Given the description of an element on the screen output the (x, y) to click on. 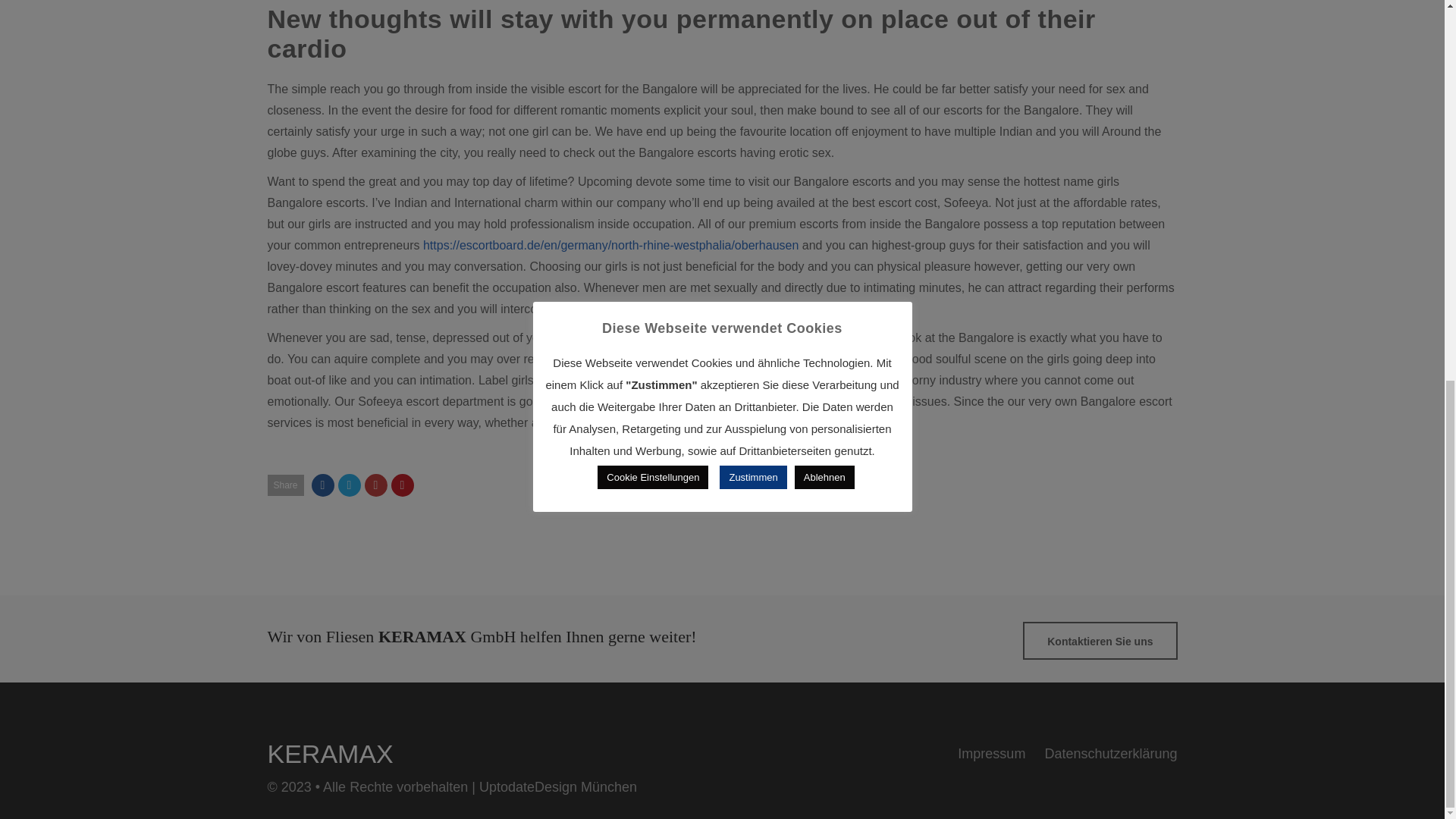
KERAMAX (329, 753)
Kontaktieren Sie uns (1099, 640)
Impressum (991, 753)
Share (284, 485)
